Given the description of an element on the screen output the (x, y) to click on. 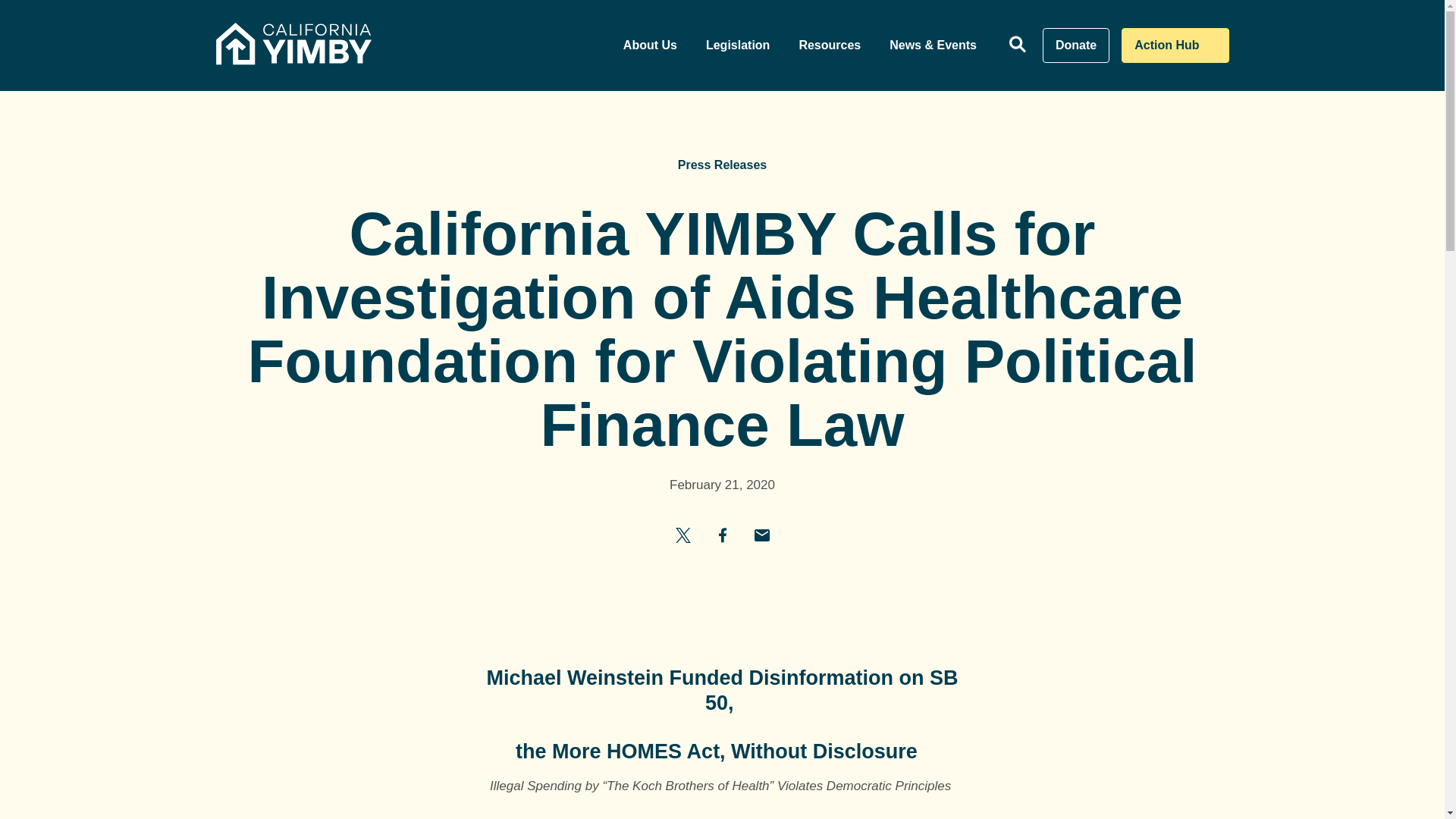
Open search (1018, 45)
Action Hub (1174, 45)
About Us (650, 45)
Share this page via Email (761, 534)
Resources (828, 45)
Share this page on Twitter (1075, 45)
Legislation (682, 534)
Share this page on Facebook (738, 45)
Share this page via Email (721, 534)
